Given the description of an element on the screen output the (x, y) to click on. 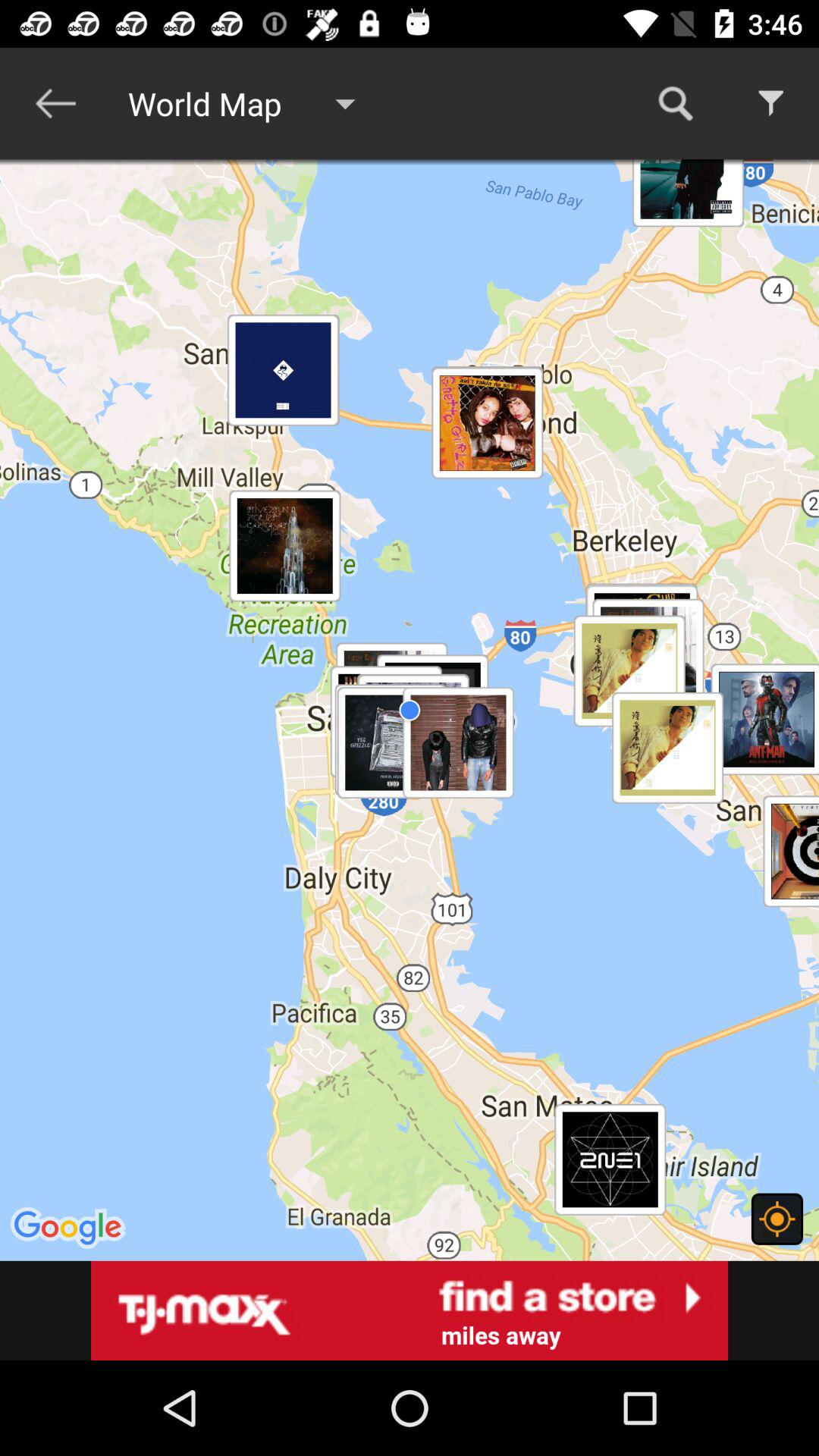
show my current location (777, 1218)
